Given the description of an element on the screen output the (x, y) to click on. 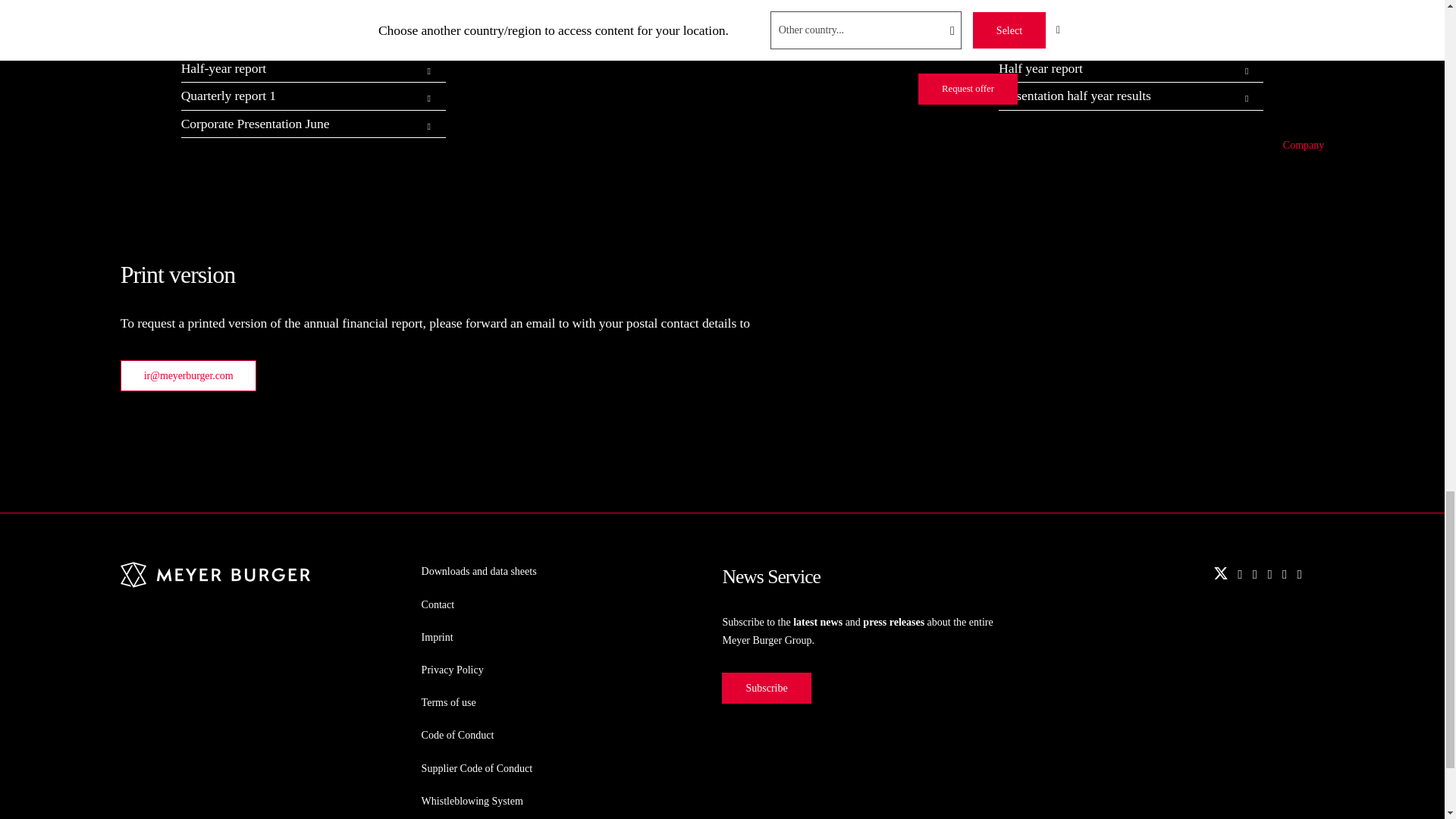
Meyer Burger Technology AG (215, 582)
Company Profile 2020 (299, 13)
Presentation Fiscal Year 2020 (299, 40)
Subscribe (766, 687)
